Given the description of an element on the screen output the (x, y) to click on. 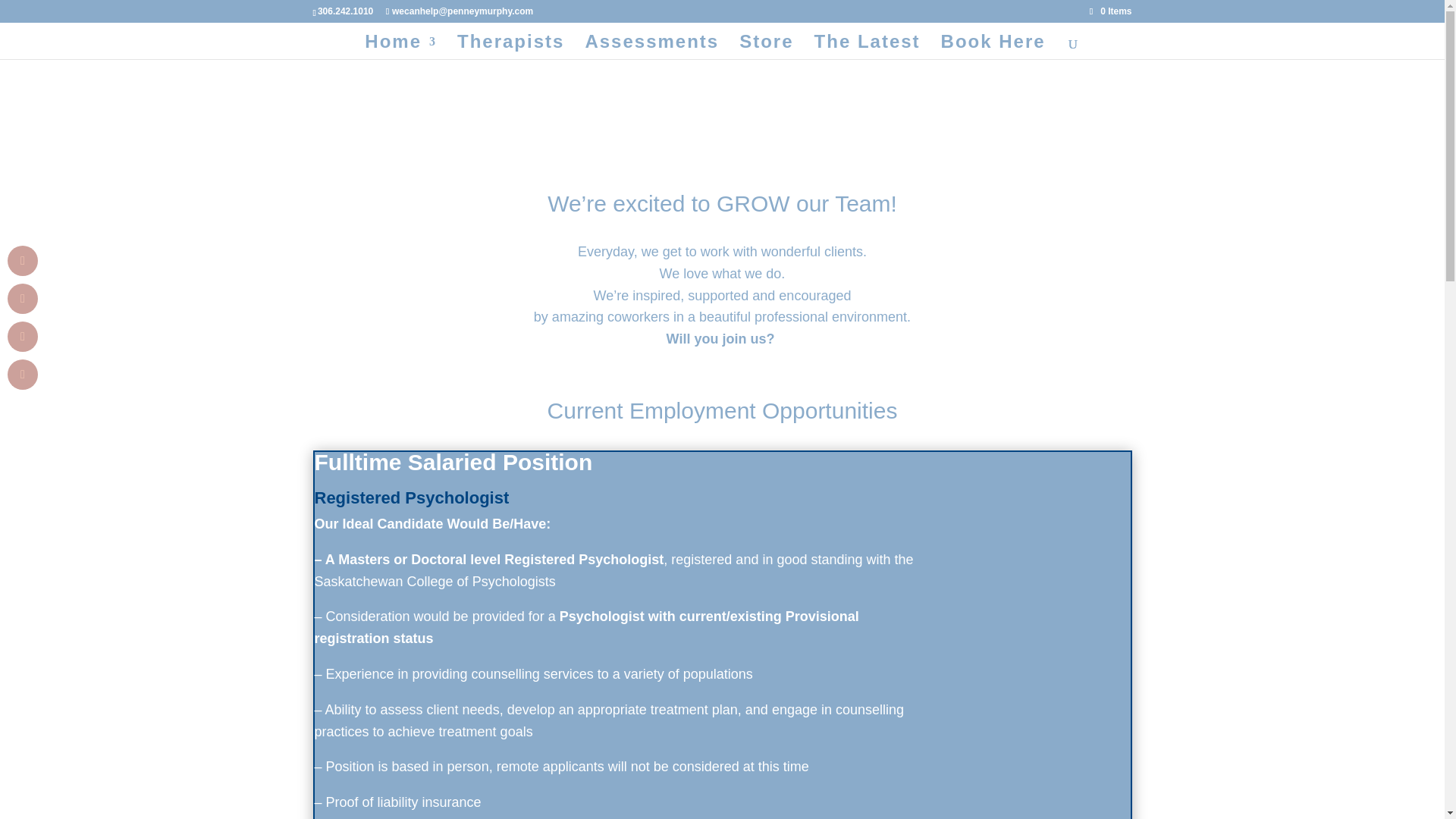
The Latest (866, 47)
Therapists (510, 47)
Book Here (992, 47)
0 Items (1110, 10)
Home (400, 47)
Store (766, 47)
Assessments (652, 47)
